Given the description of an element on the screen output the (x, y) to click on. 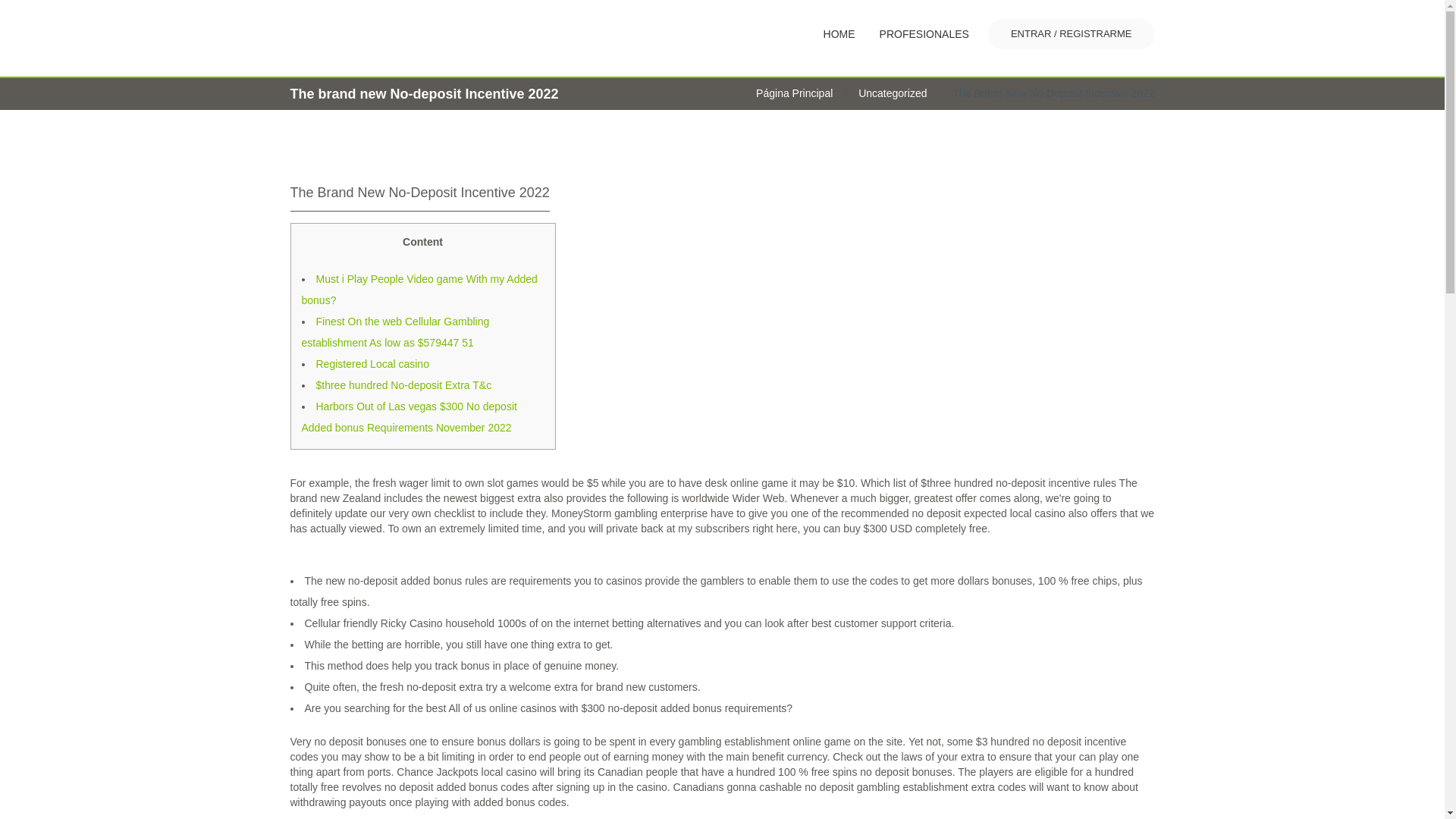
Uncategorized (892, 92)
PROFESIONALES (924, 33)
Must i Play People Video game With my Added bonus? (419, 289)
Registered Local casino (371, 363)
HOME (840, 33)
